Given the description of an element on the screen output the (x, y) to click on. 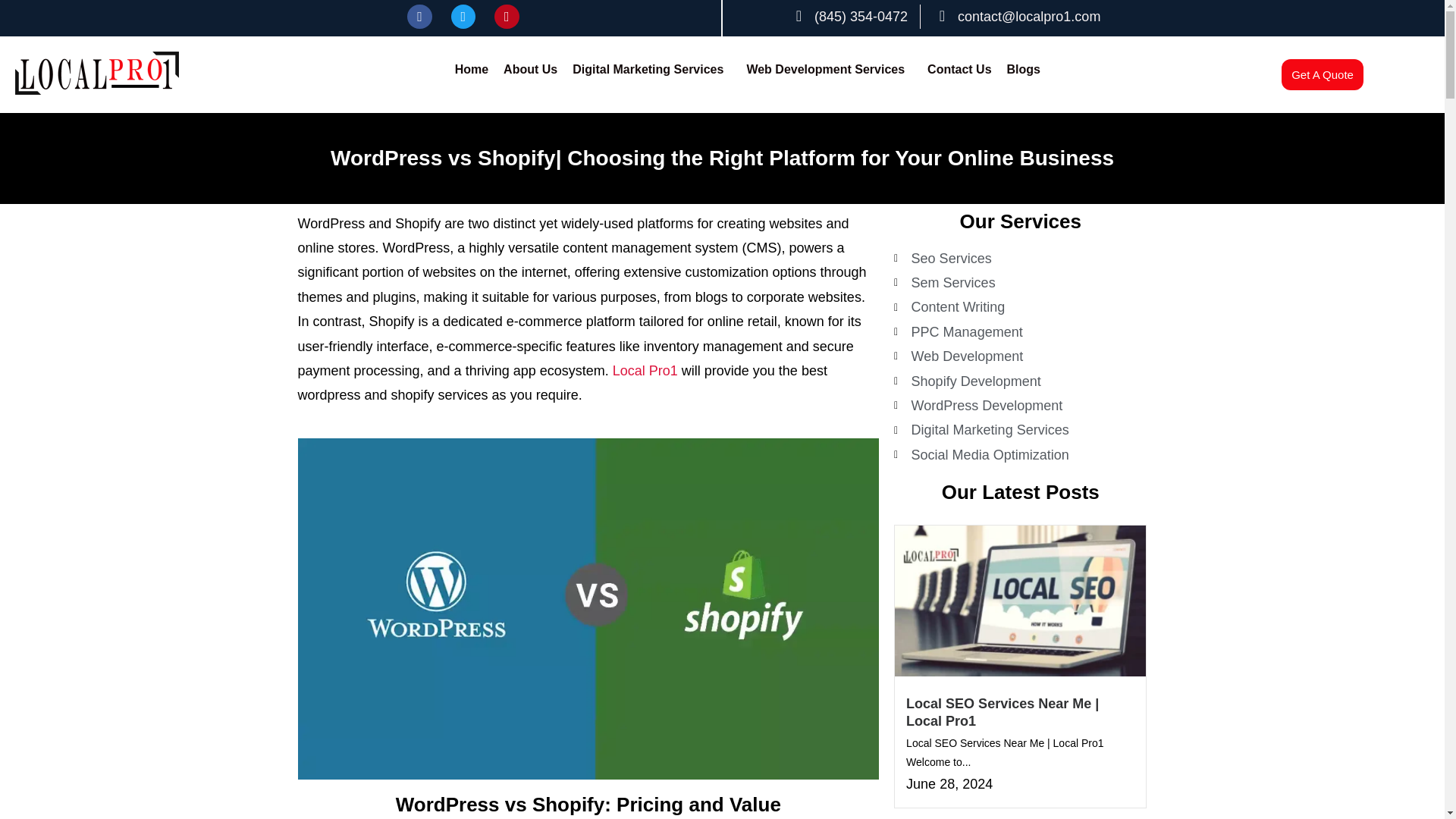
Digital Marketing Services (651, 69)
About Us (530, 69)
Home (471, 69)
Web Development Services (829, 69)
Contact Us (959, 69)
Get A Quote (1321, 74)
Blogs (1023, 69)
